Given the description of an element on the screen output the (x, y) to click on. 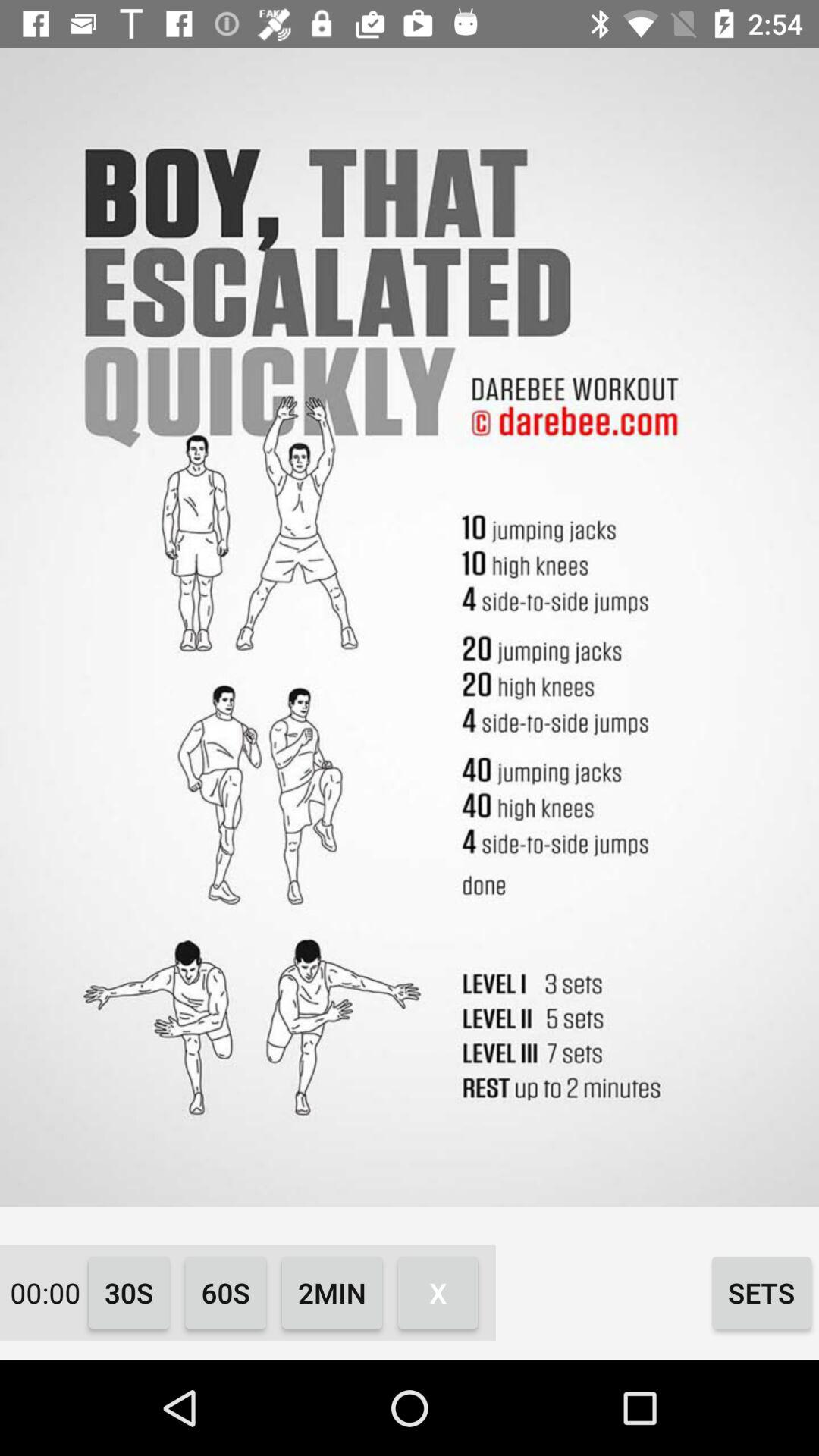
turn off icon next to the 2min item (225, 1292)
